Given the description of an element on the screen output the (x, y) to click on. 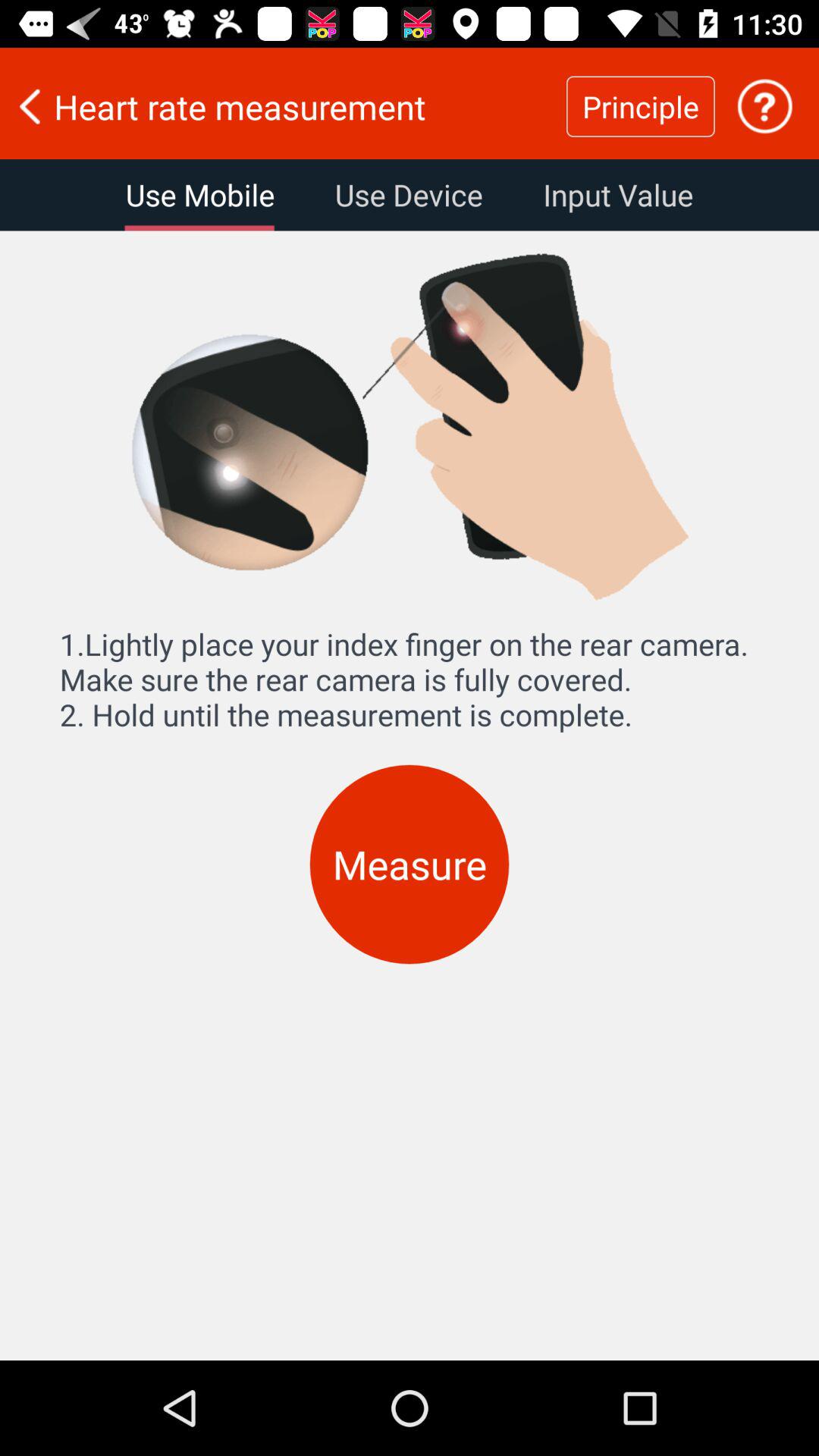
click item below the heart rate measurement icon (199, 194)
